Given the description of an element on the screen output the (x, y) to click on. 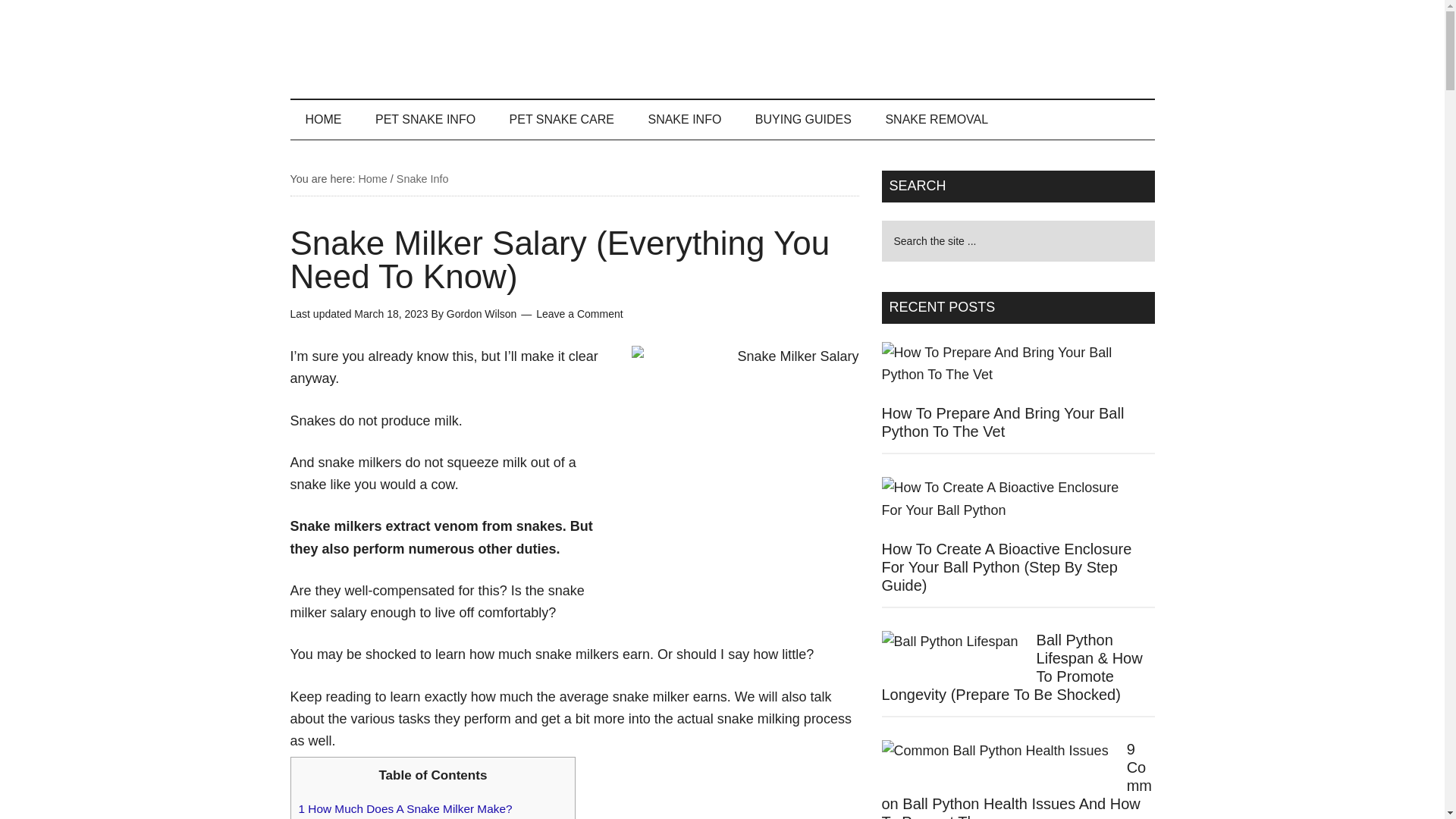
BUYING GUIDES (802, 119)
Home (372, 178)
SNAKE INFO (683, 119)
HOME (322, 119)
PET SNAKE INFO (424, 119)
My Snake Pet (721, 49)
Snake Info (422, 178)
PET SNAKE CARE (561, 119)
Leave a Comment (579, 313)
Gordon Wilson (481, 313)
Snake Milker Salary (744, 459)
SNAKE REMOVAL (936, 119)
